Given the description of an element on the screen output the (x, y) to click on. 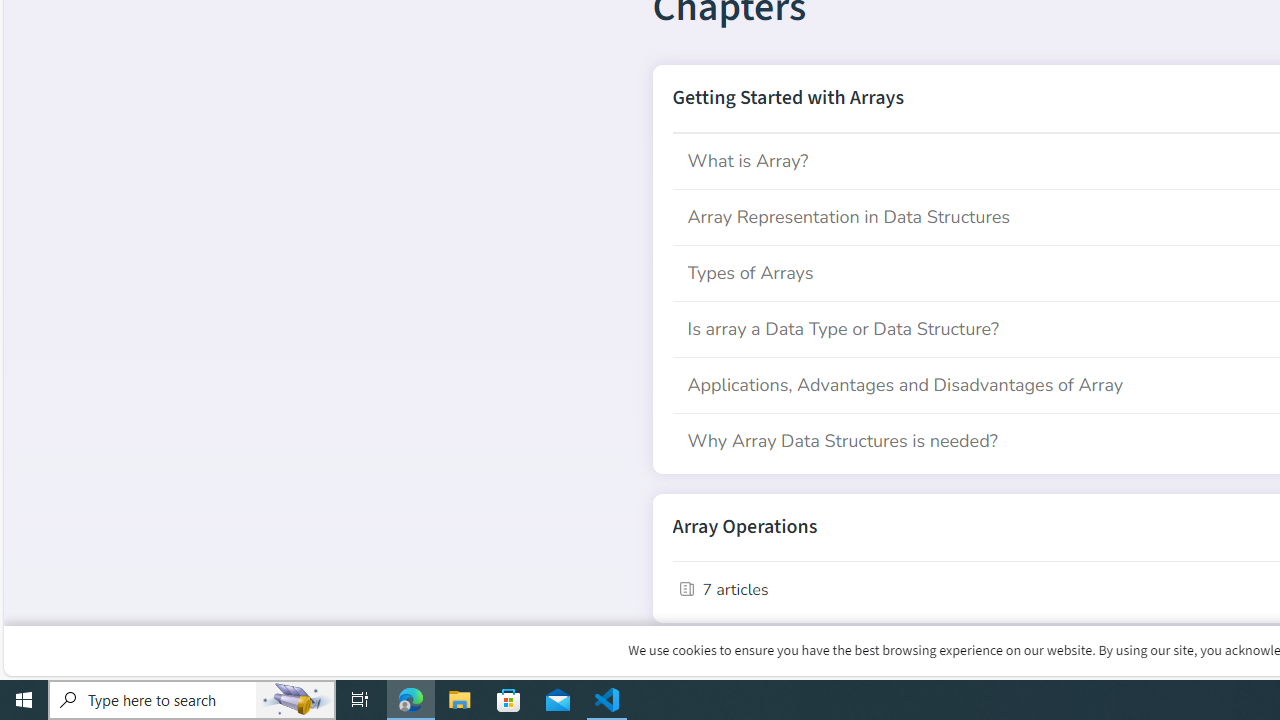
Lightbox (1272, 13)
